Given the description of an element on the screen output the (x, y) to click on. 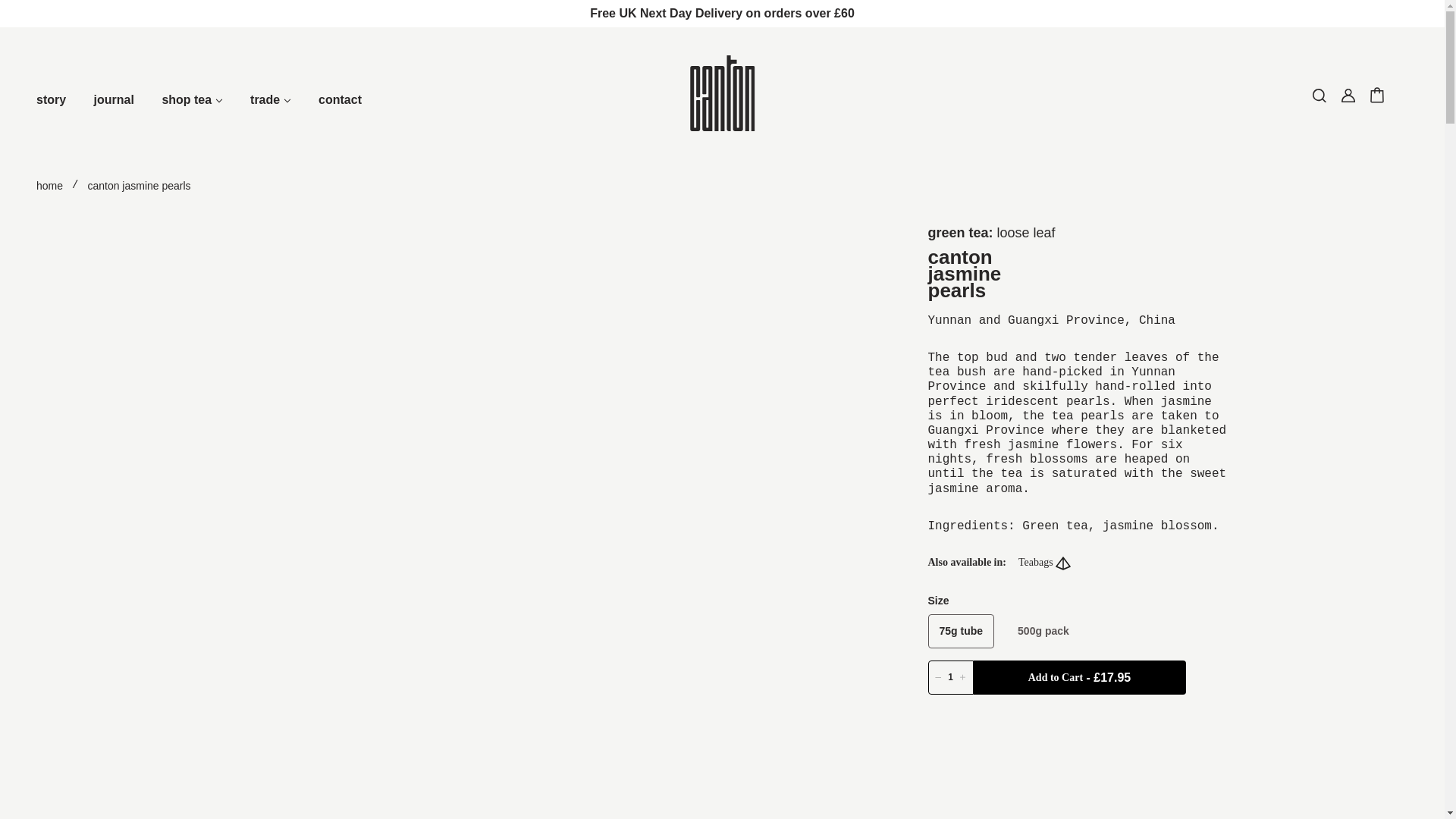
Canton Tea (722, 127)
1 (951, 677)
Canton Tea (722, 127)
journal (114, 114)
shop tea (191, 114)
